Given the description of an element on the screen output the (x, y) to click on. 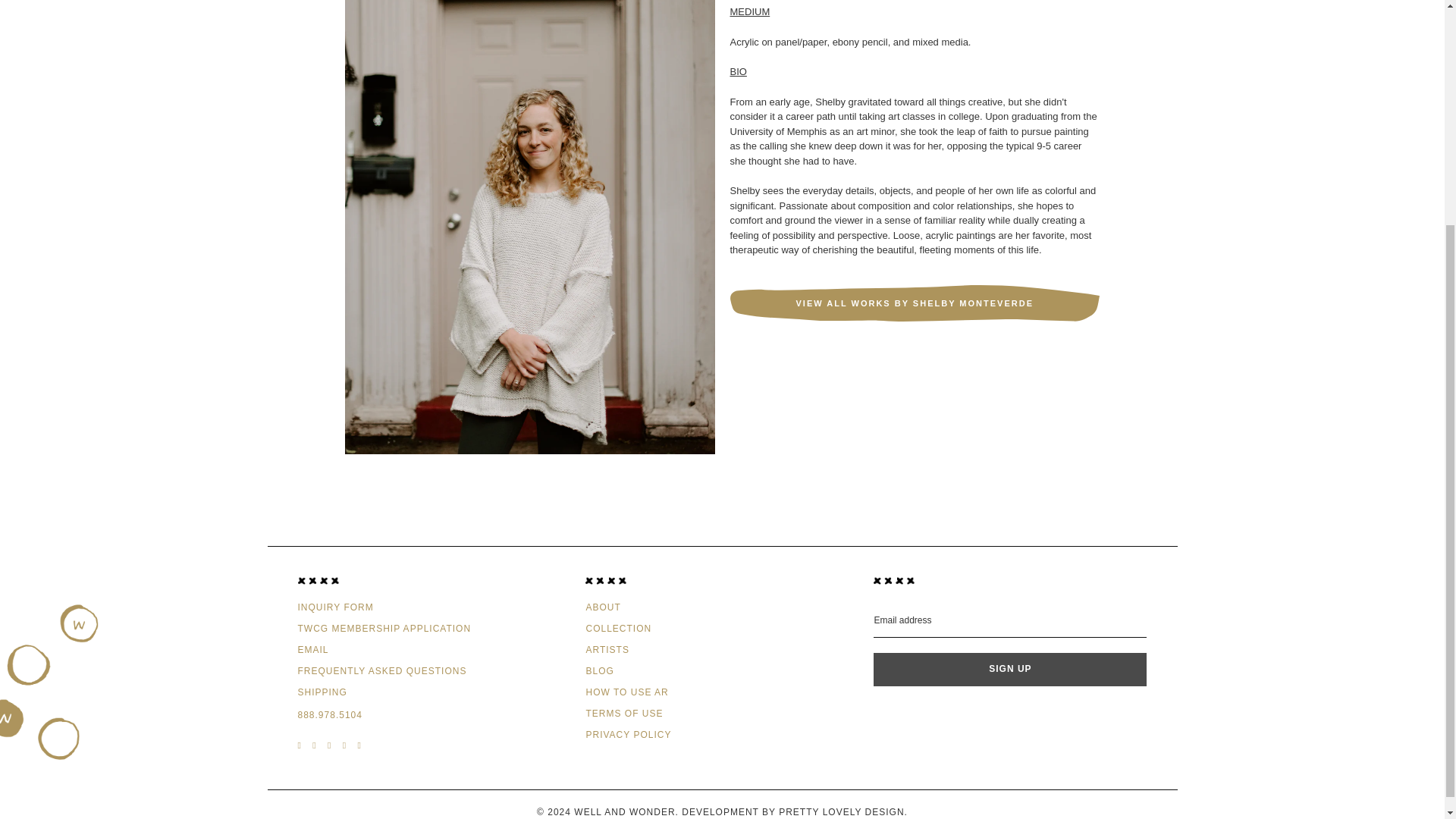
Sign Up (1010, 669)
